Given the description of an element on the screen output the (x, y) to click on. 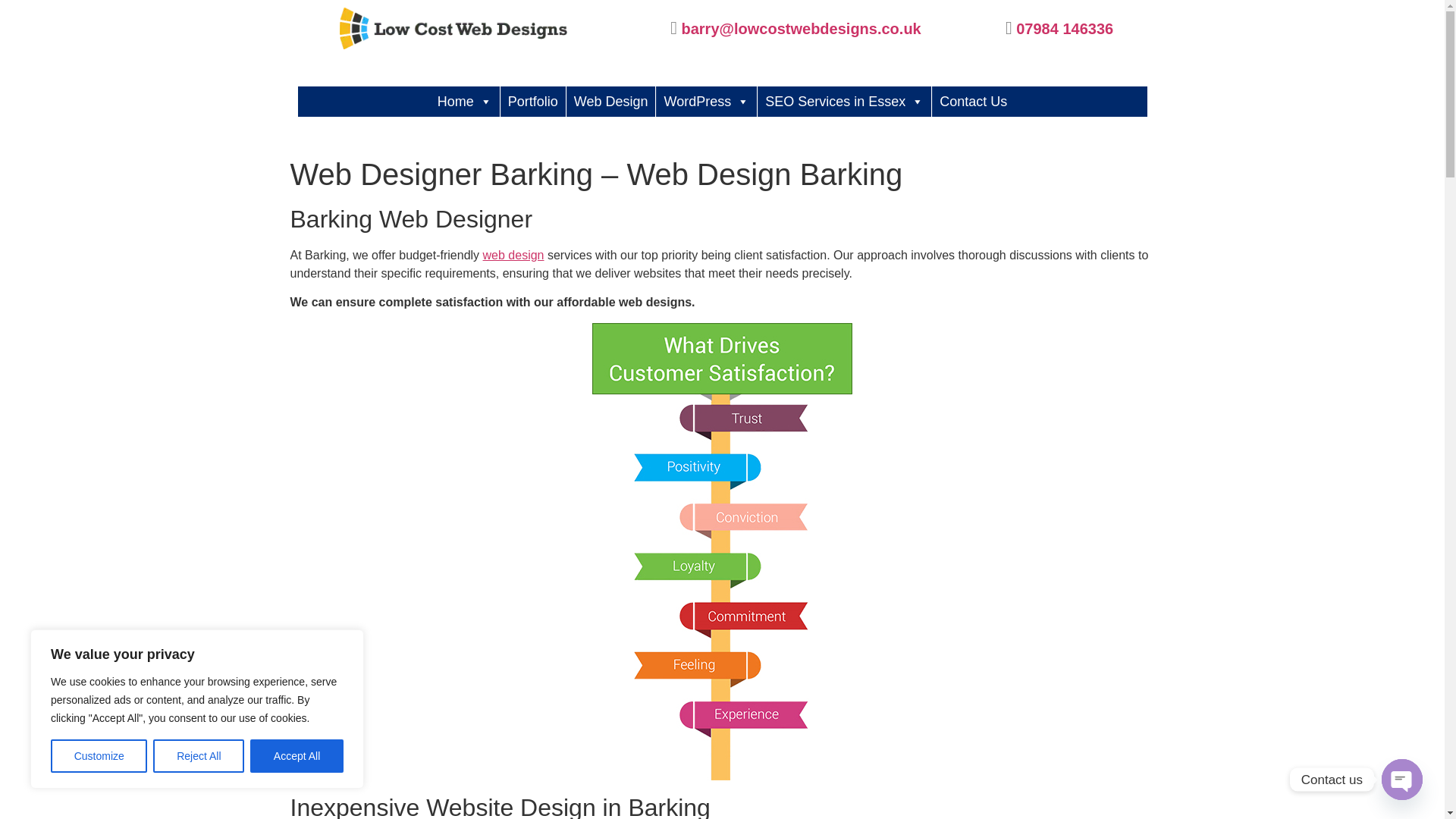
Portfolio (533, 101)
Reject All (198, 756)
Home (464, 101)
Customize (98, 756)
07984 146336 (1064, 27)
Accept All (296, 756)
Web Design (611, 101)
WordPress (706, 101)
SEO Services in Essex (844, 101)
Web Design (513, 254)
